Given the description of an element on the screen output the (x, y) to click on. 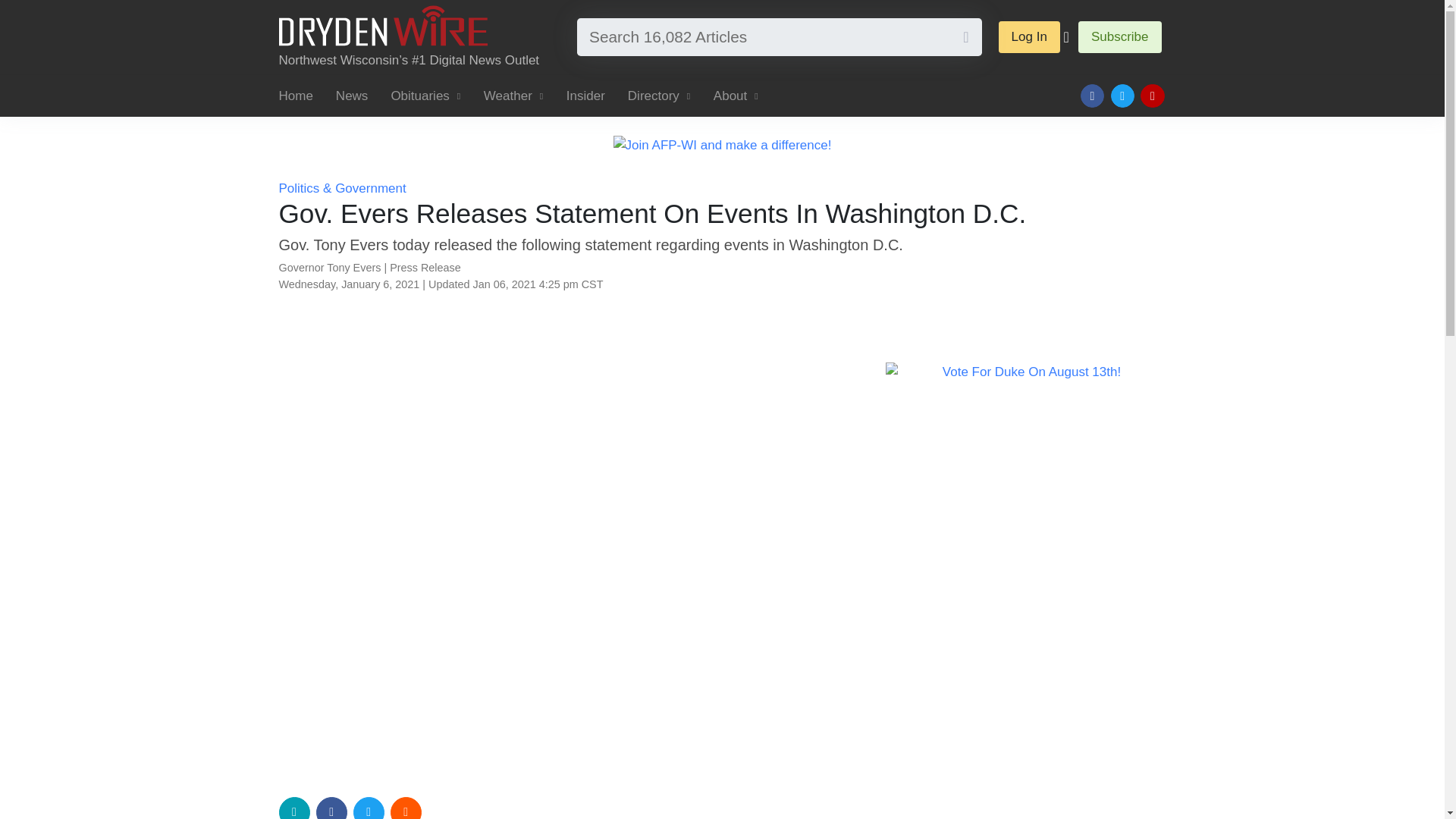
Obituaries (424, 96)
Join AFP-WI and make a difference! (721, 144)
Need A Loan? We Do That Here At ICU! (1025, 340)
Insider (584, 96)
facebook (331, 807)
Log In (1028, 37)
Subscribe (1119, 37)
twitter (368, 807)
reddit (406, 807)
Home (301, 96)
About (735, 96)
Vote For Duke On August 13th! (1025, 372)
Directory (658, 96)
Weather (512, 96)
email (294, 807)
